Given the description of an element on the screen output the (x, y) to click on. 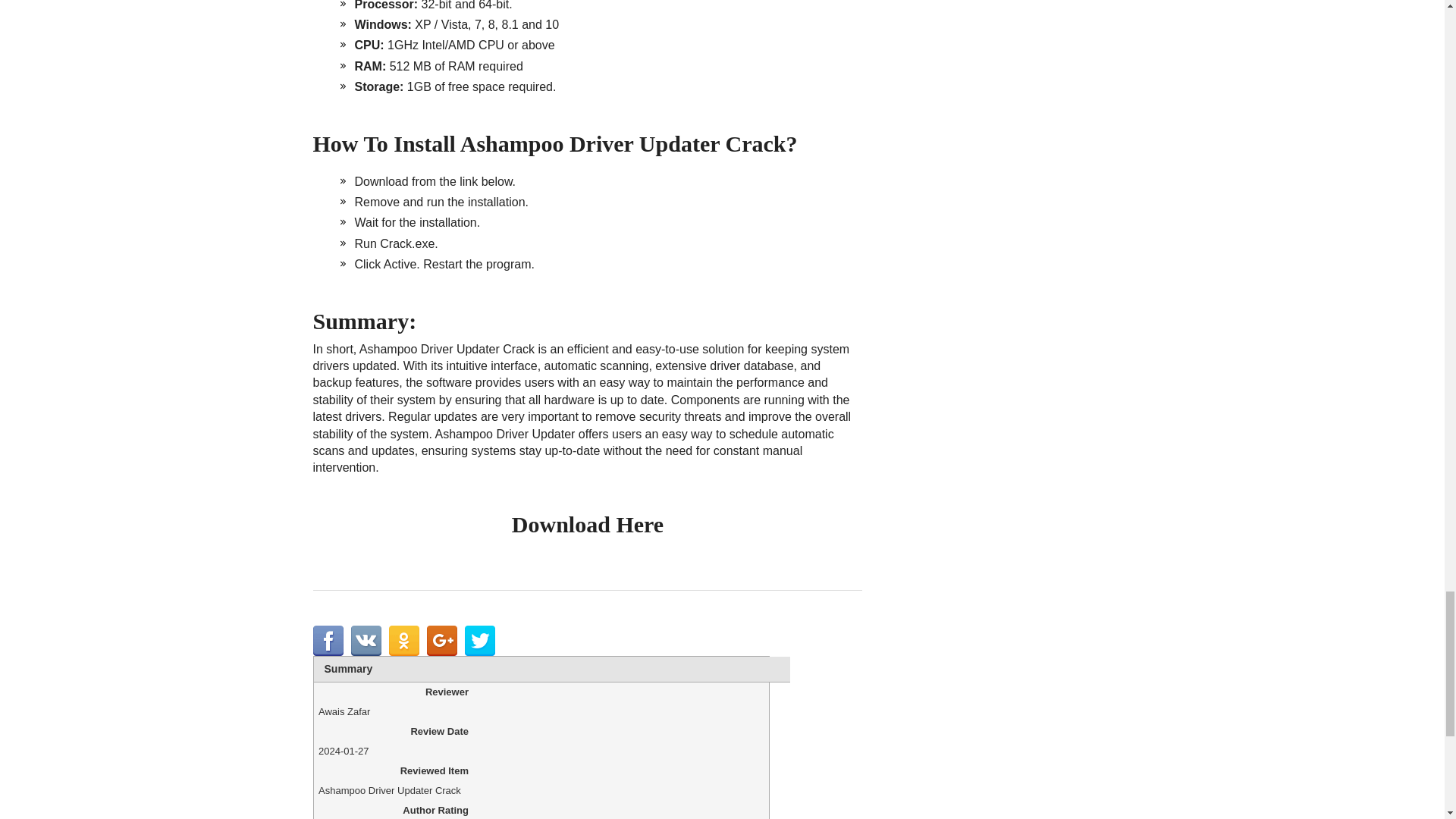
Share in VK (365, 640)
Share in Facebook (327, 640)
Share in Twitter (479, 640)
Download Here (587, 524)
Share in OK (403, 640)
